Given the description of an element on the screen output the (x, y) to click on. 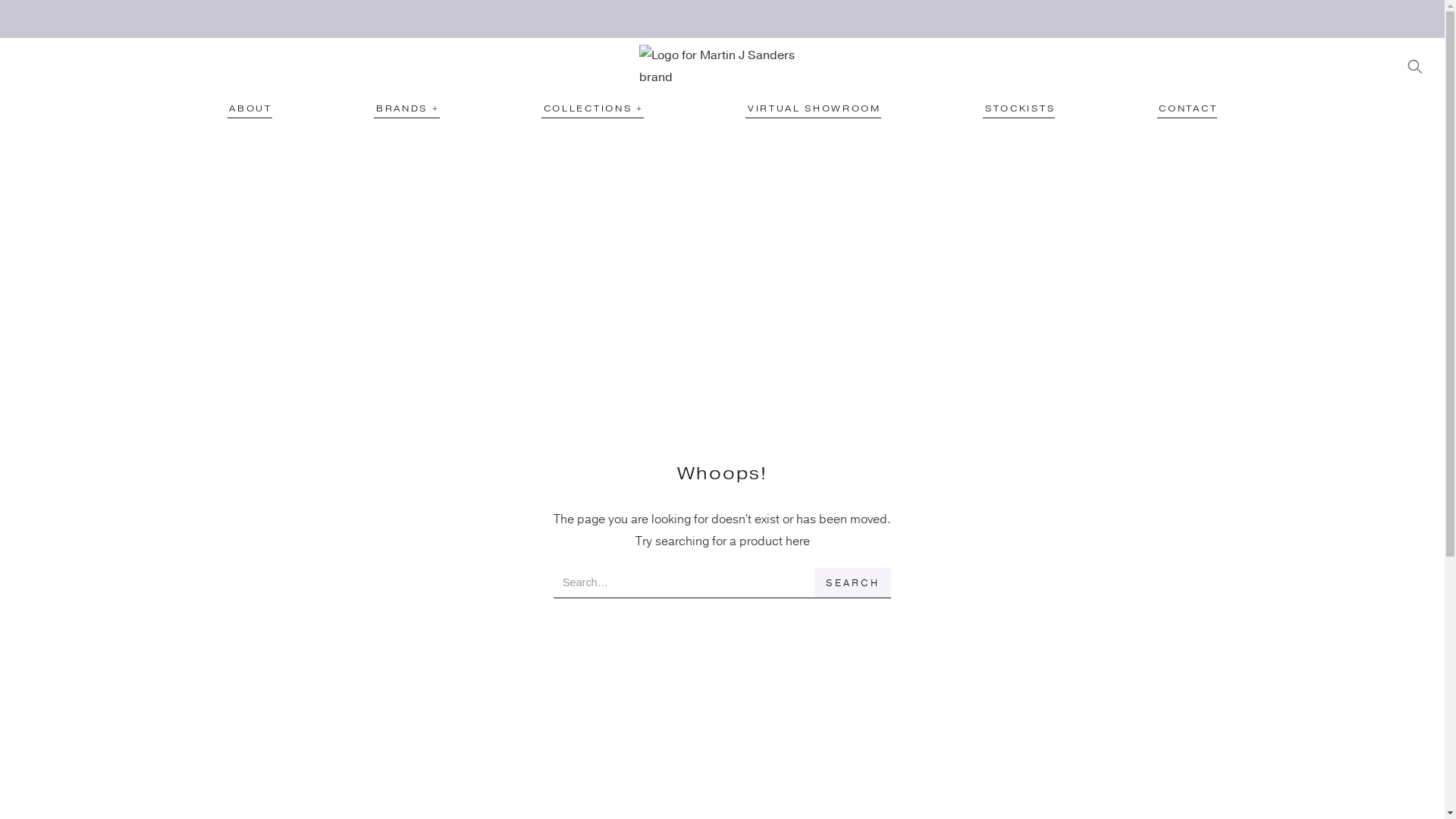
CONTACT Element type: text (1187, 109)
ABOUT Element type: text (250, 109)
STOCKISTS Element type: text (1018, 109)
Search Element type: text (852, 582)
VIRTUAL SHOWROOM Element type: text (813, 109)
Search Element type: text (913, 95)
